Given the description of an element on the screen output the (x, y) to click on. 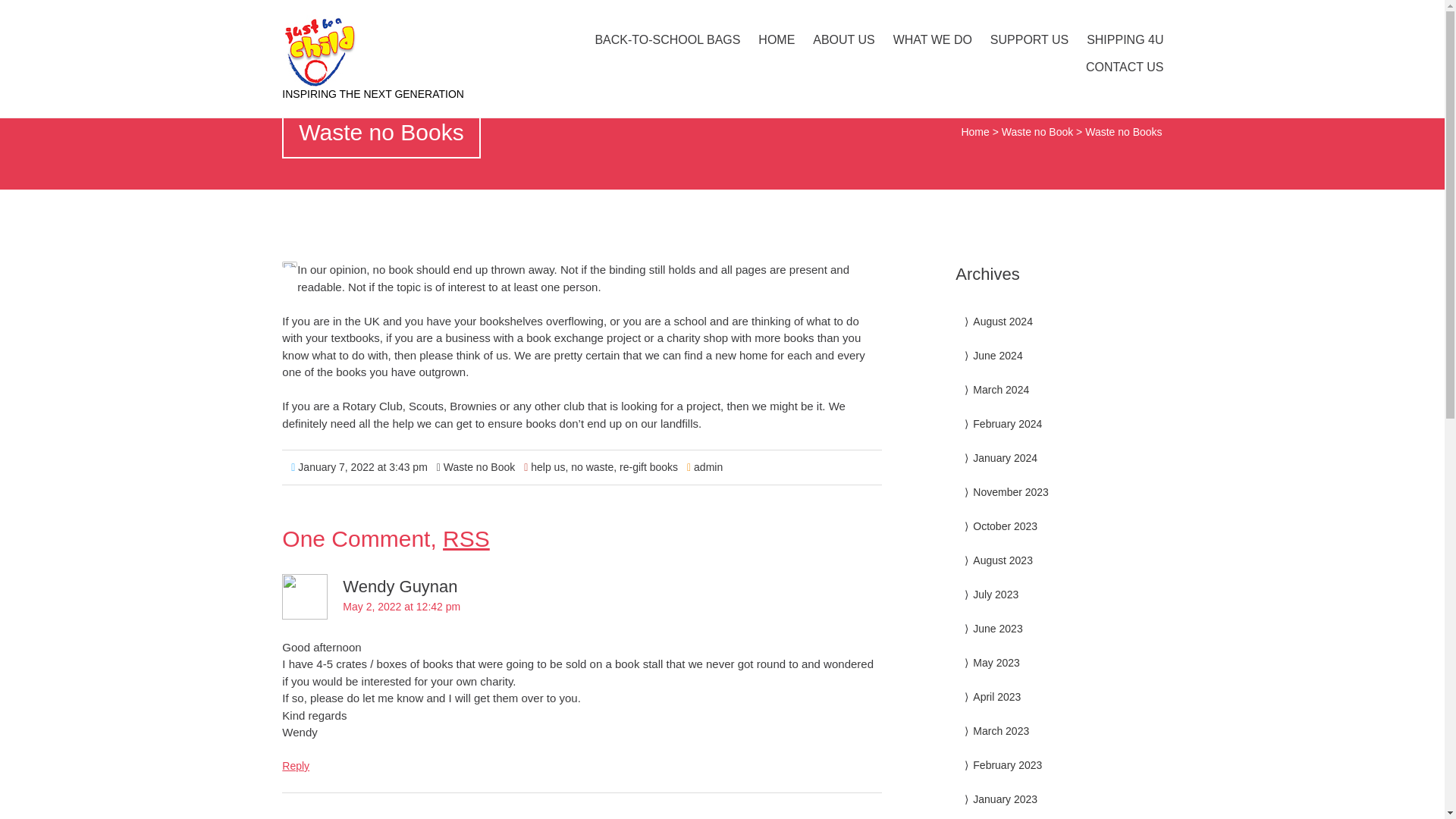
Facebook (1050, 15)
Just be a Child - Inspiring the Next Generation (413, 50)
WHAT WE DO (932, 40)
Comments RSS (465, 538)
SUPPORT US (1028, 40)
HOME (776, 40)
DONATE (1128, 15)
BACK-TO-SCHOOL BAGS (667, 40)
SHIPPING 4U (1124, 40)
Twitter (1080, 15)
